Given the description of an element on the screen output the (x, y) to click on. 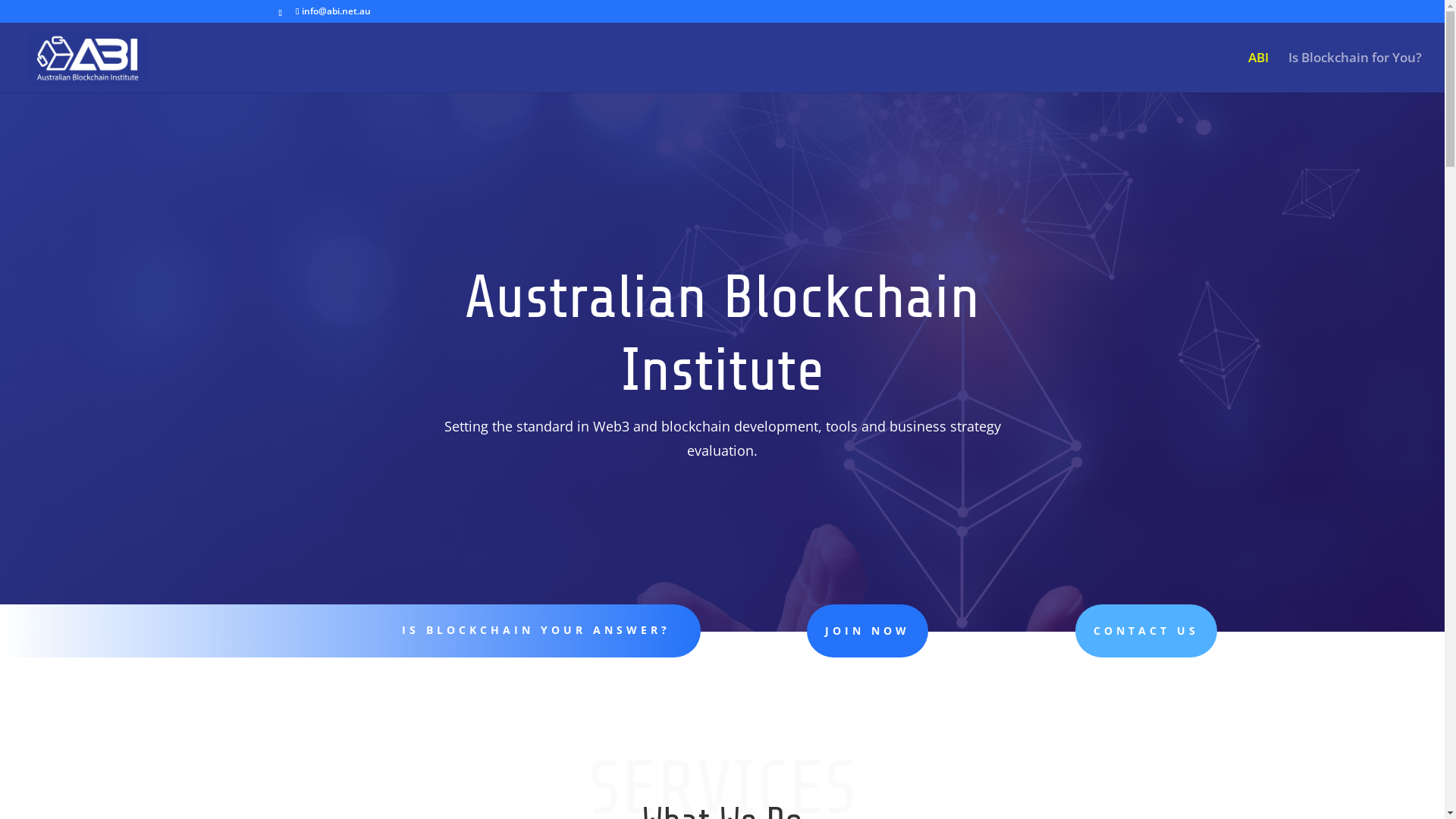
info@abi.net.au Element type: text (332, 10)
CONTACT US Element type: text (1146, 630)
JOIN NOW Element type: text (867, 630)
Is Blockchain for You? Element type: text (1354, 72)
IS BLOCKCHAIN YOUR ANSWER? Element type: text (535, 629)
ABI Element type: text (1258, 72)
